Given the description of an element on the screen output the (x, y) to click on. 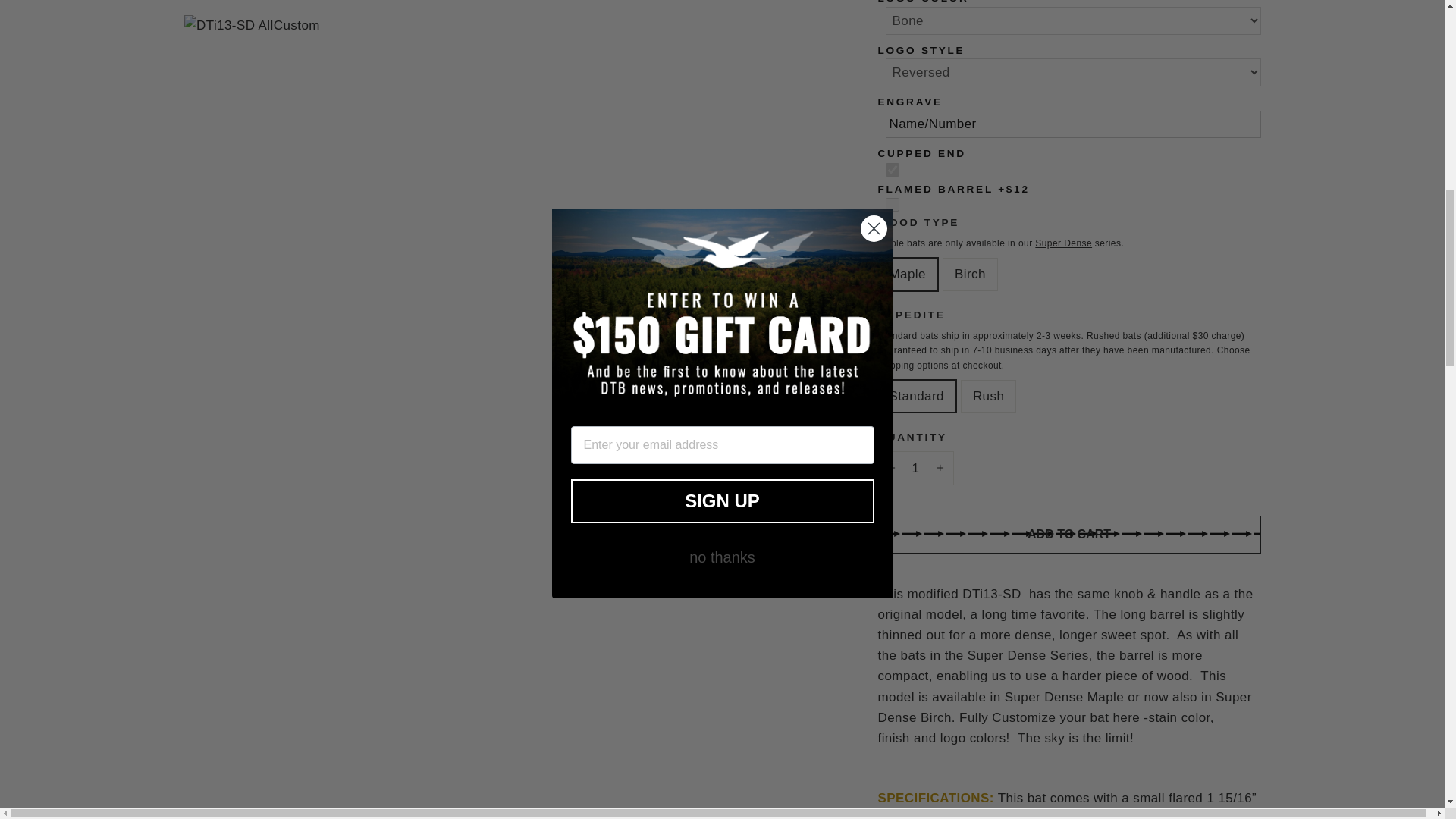
on (892, 169)
on (892, 204)
1 (915, 467)
